Given the description of an element on the screen output the (x, y) to click on. 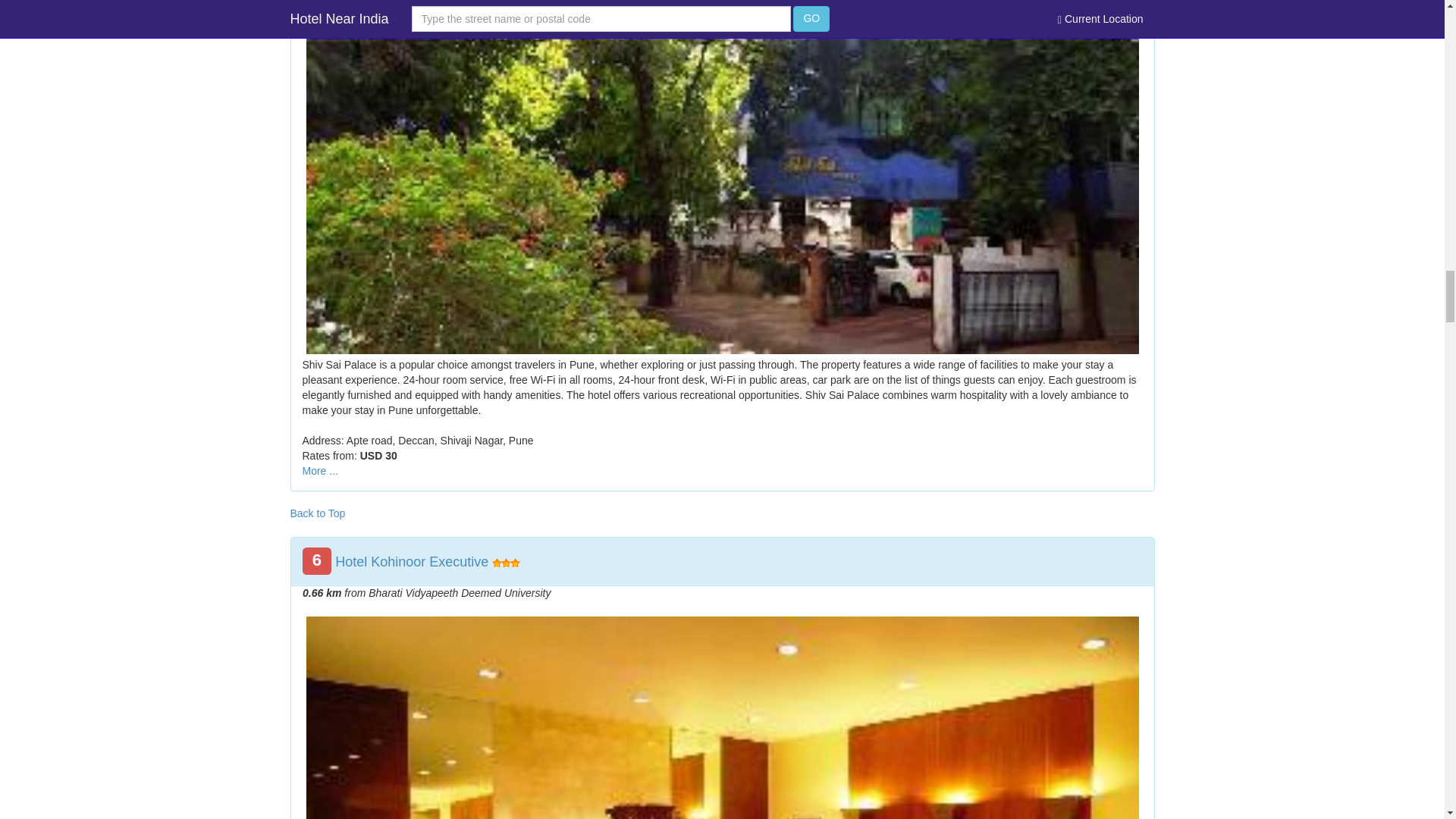
Back to Top (317, 512)
More ... (319, 470)
Hotel Kohinoor Executive (410, 561)
